Given the description of an element on the screen output the (x, y) to click on. 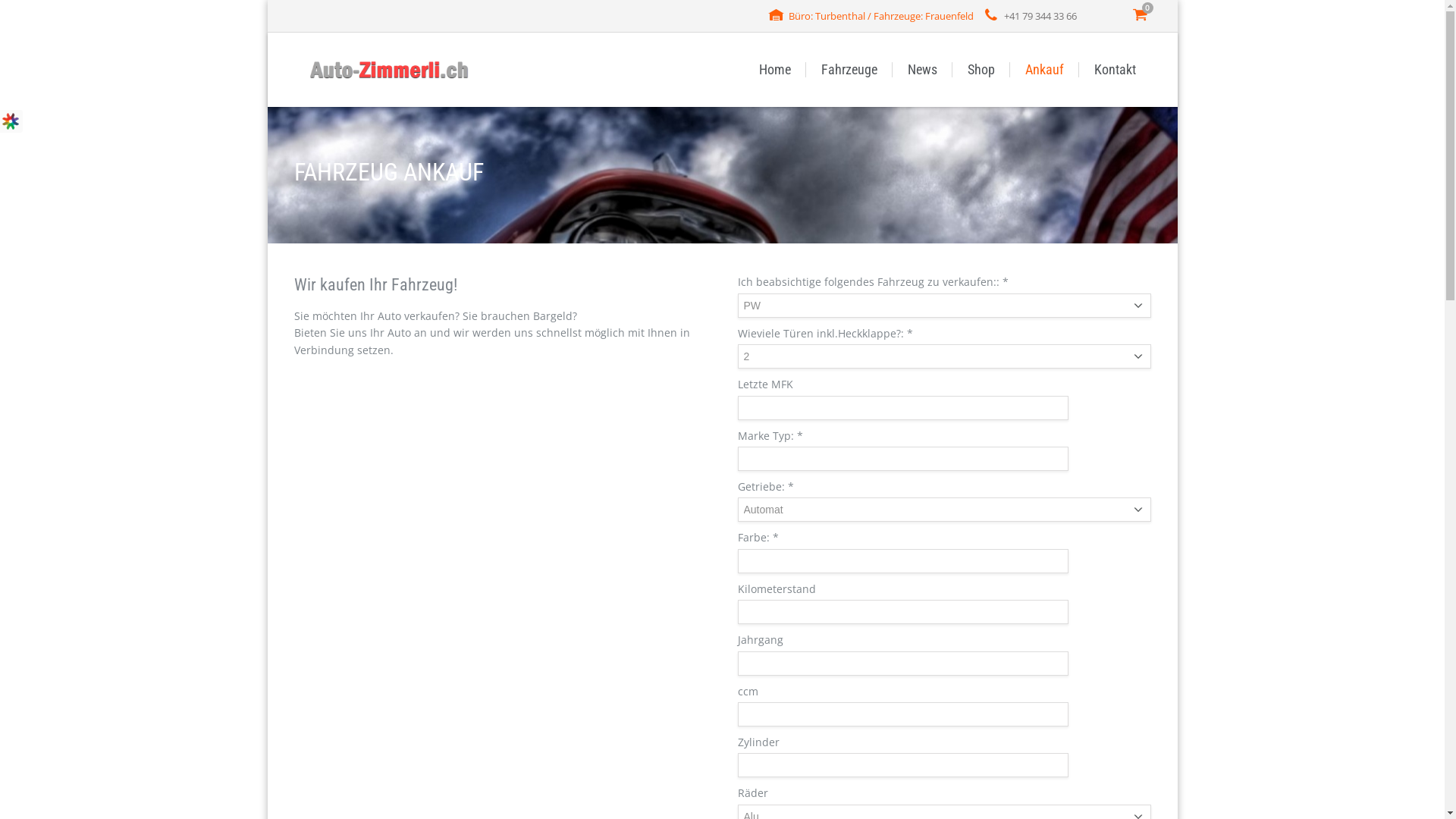
US Cars, Sportwagen, SUV, Cabriolets und Limousinen Element type: hover (390, 69)
News Element type: text (921, 69)
Shop Element type: text (981, 69)
Fahrzeuge Element type: text (848, 69)
Ankauf Element type: text (1044, 69)
Home Element type: text (774, 69)
Kontakt Element type: text (1114, 69)
